Given the description of an element on the screen output the (x, y) to click on. 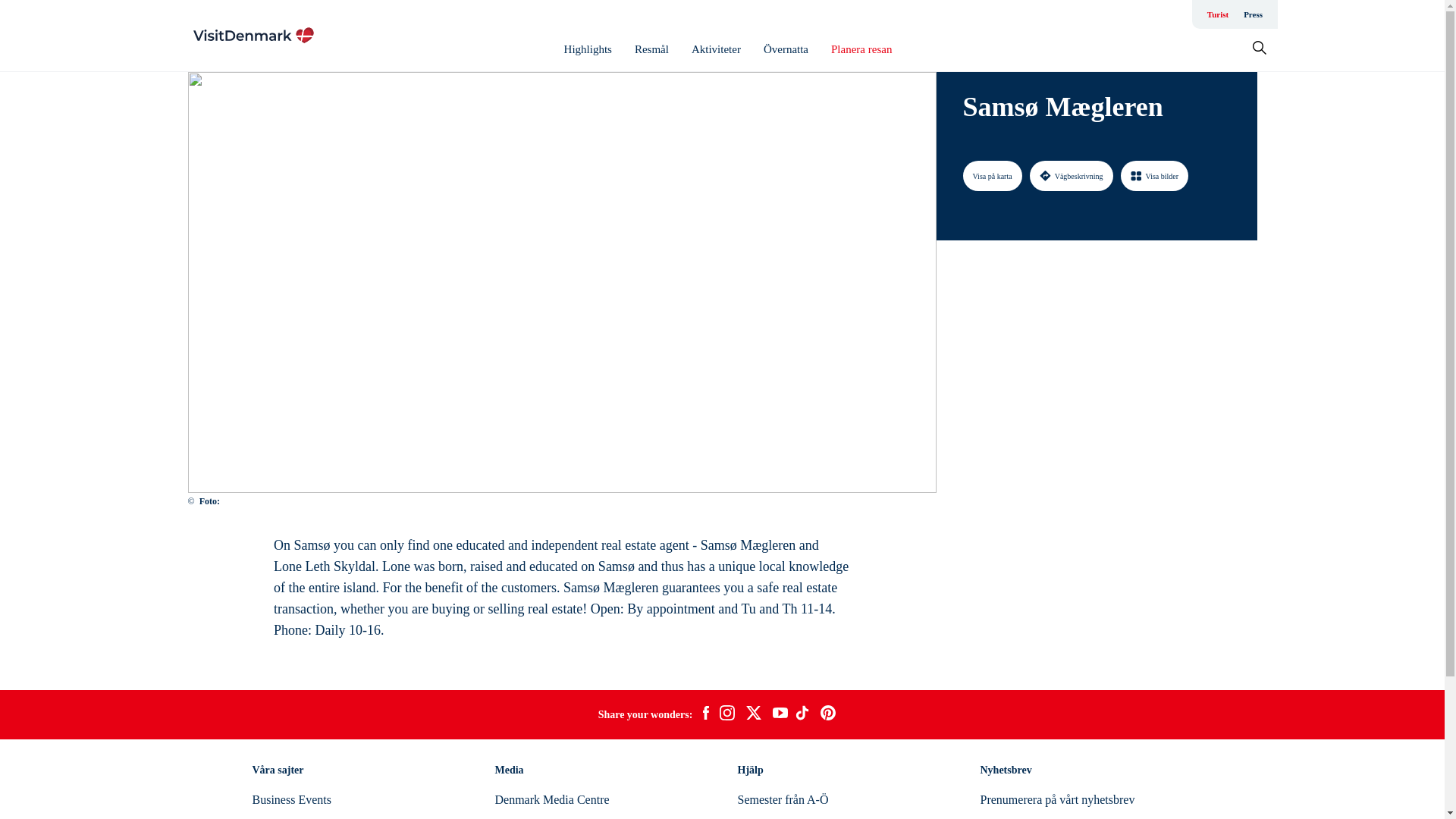
Go to homepage (253, 35)
instagram (726, 714)
Planera resan (861, 49)
Visa bilder (1155, 175)
Business Events (290, 799)
Turist (1217, 14)
pinterest (828, 714)
Press (1252, 14)
Denmark Media Centre (551, 799)
youtube (780, 714)
Business Events (290, 799)
facebook (705, 714)
Denmark Media Centre (551, 799)
Highlights (587, 49)
twitter (753, 714)
